Given the description of an element on the screen output the (x, y) to click on. 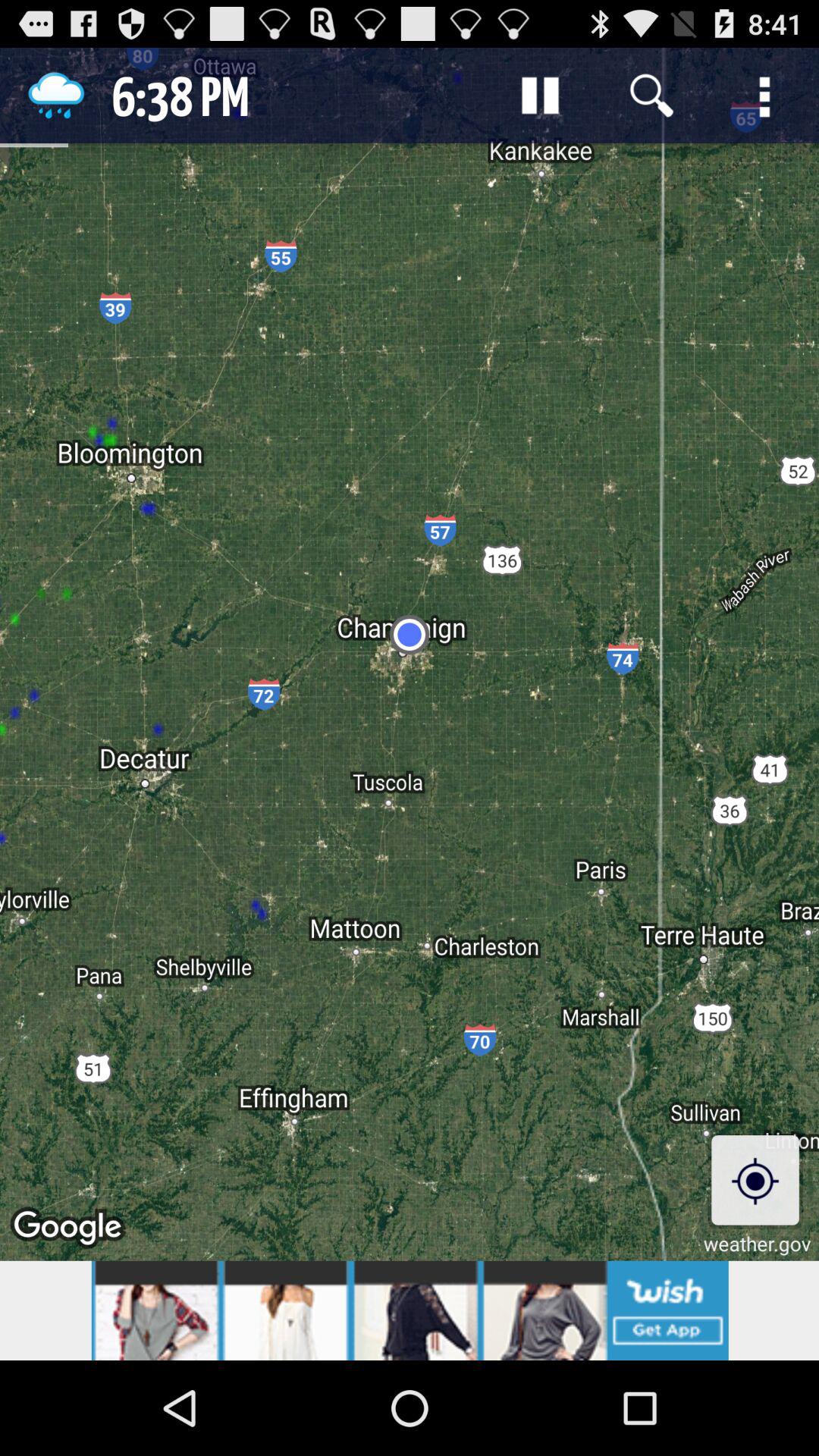
go to advertisements website (409, 1310)
